Given the description of an element on the screen output the (x, y) to click on. 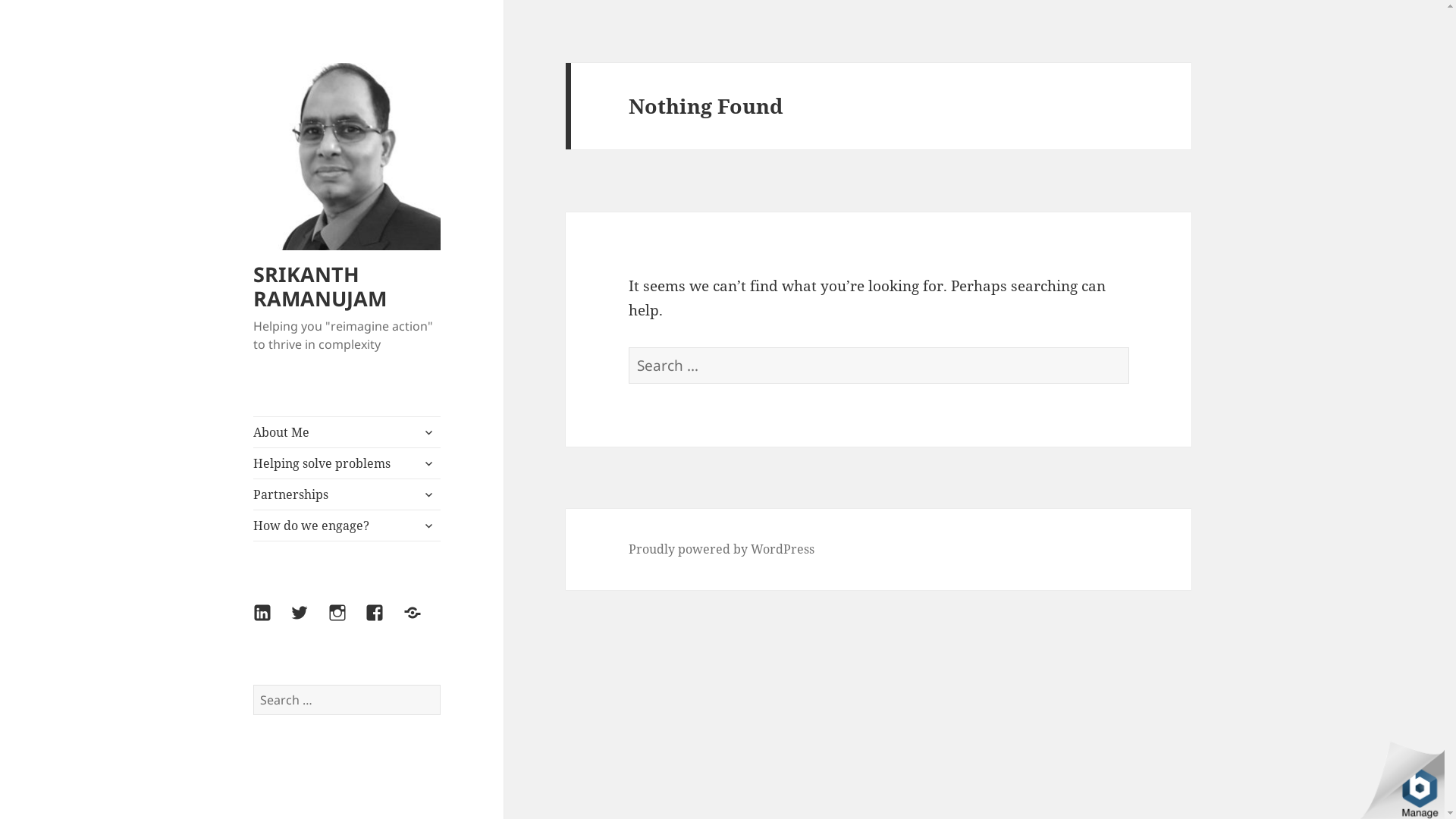
Proudly powered by WordPress Element type: text (721, 549)
How do we engage? Element type: text (347, 525)
About Me Element type: text (347, 432)
Partnerships Element type: text (347, 494)
Helping solve problems Element type: text (347, 463)
SRIKANTH RAMANUJAM Element type: text (319, 286)
